Given the description of an element on the screen output the (x, y) to click on. 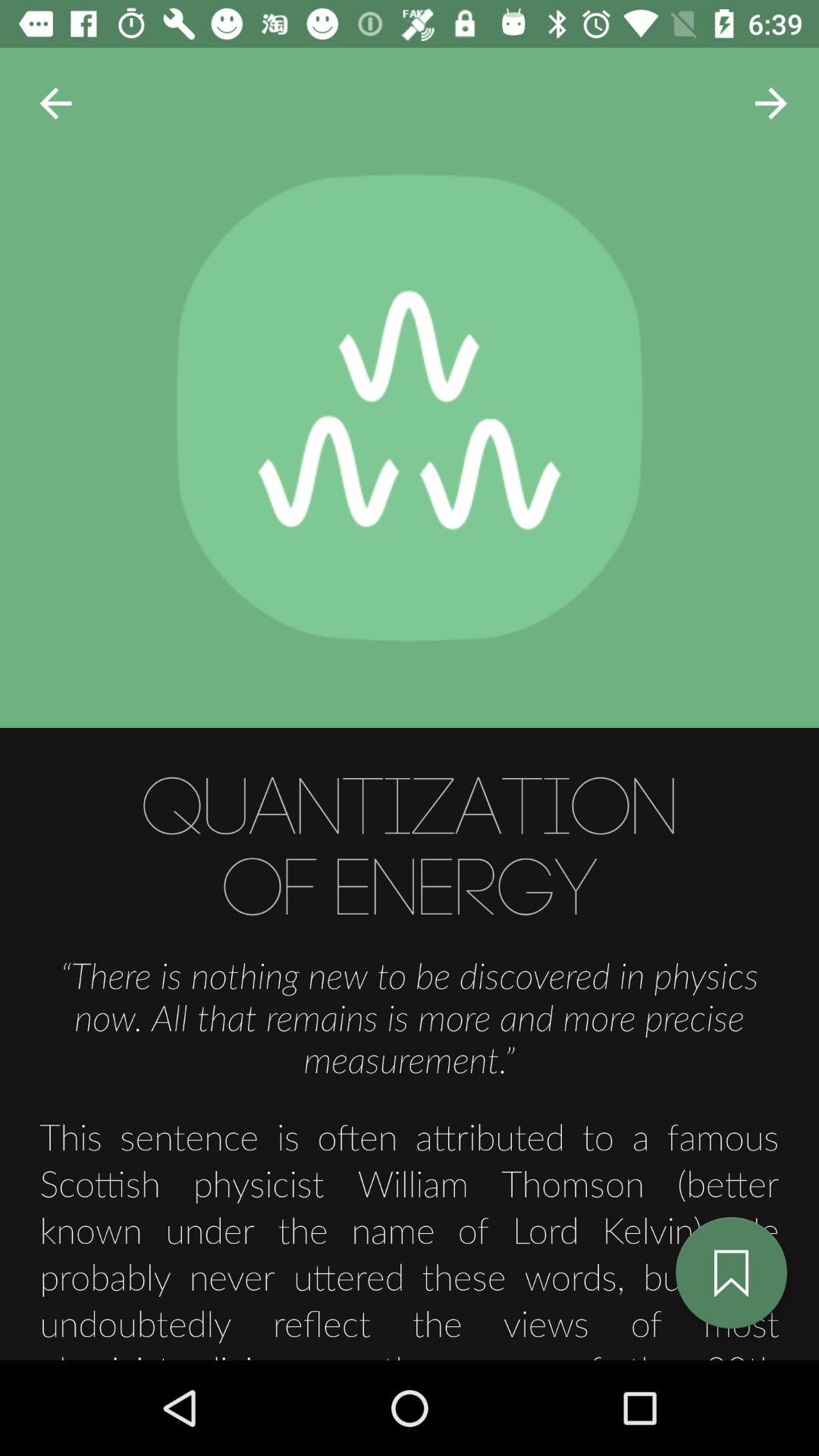
go back (55, 103)
